Given the description of an element on the screen output the (x, y) to click on. 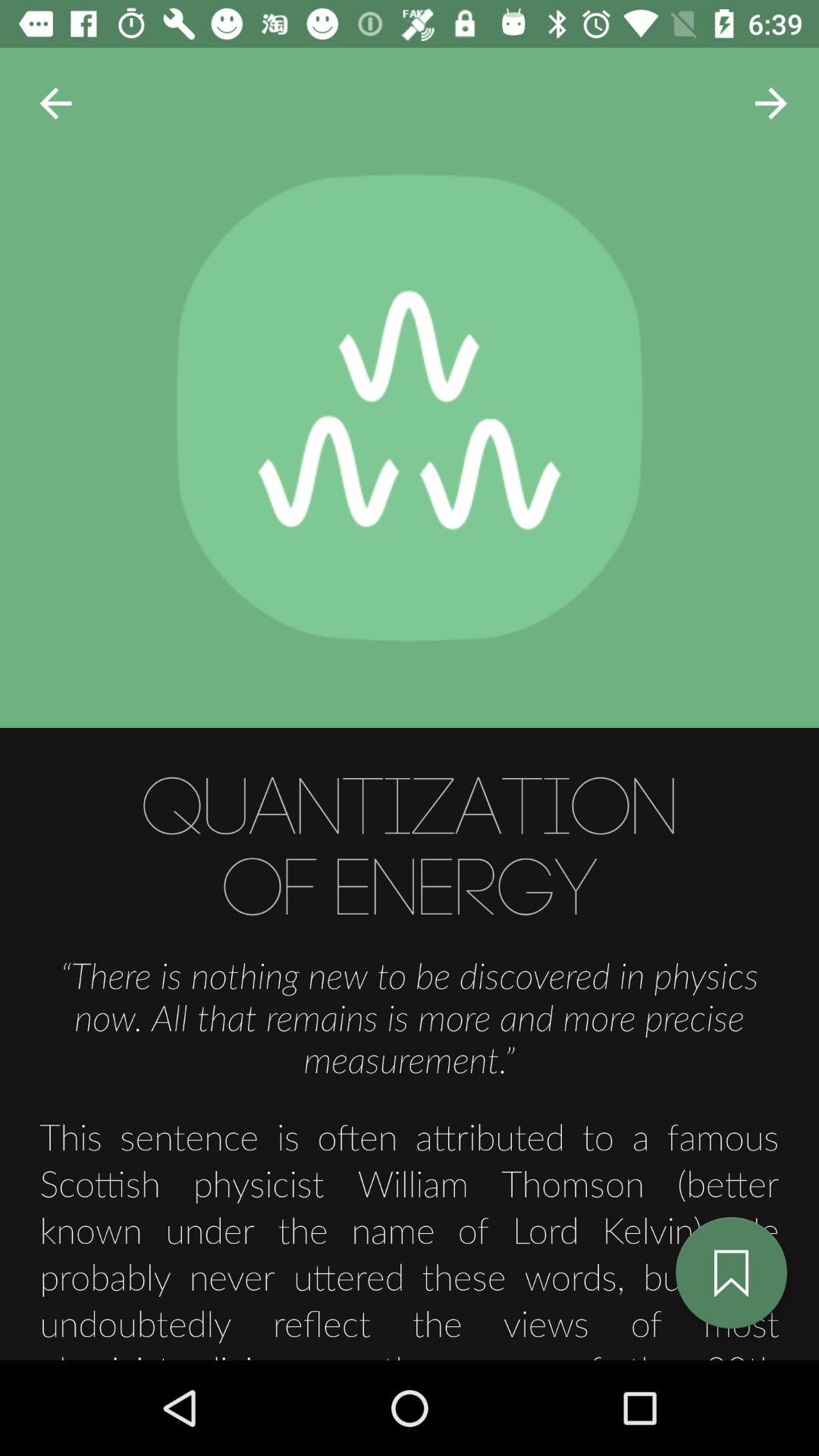
go back (55, 103)
